Given the description of an element on the screen output the (x, y) to click on. 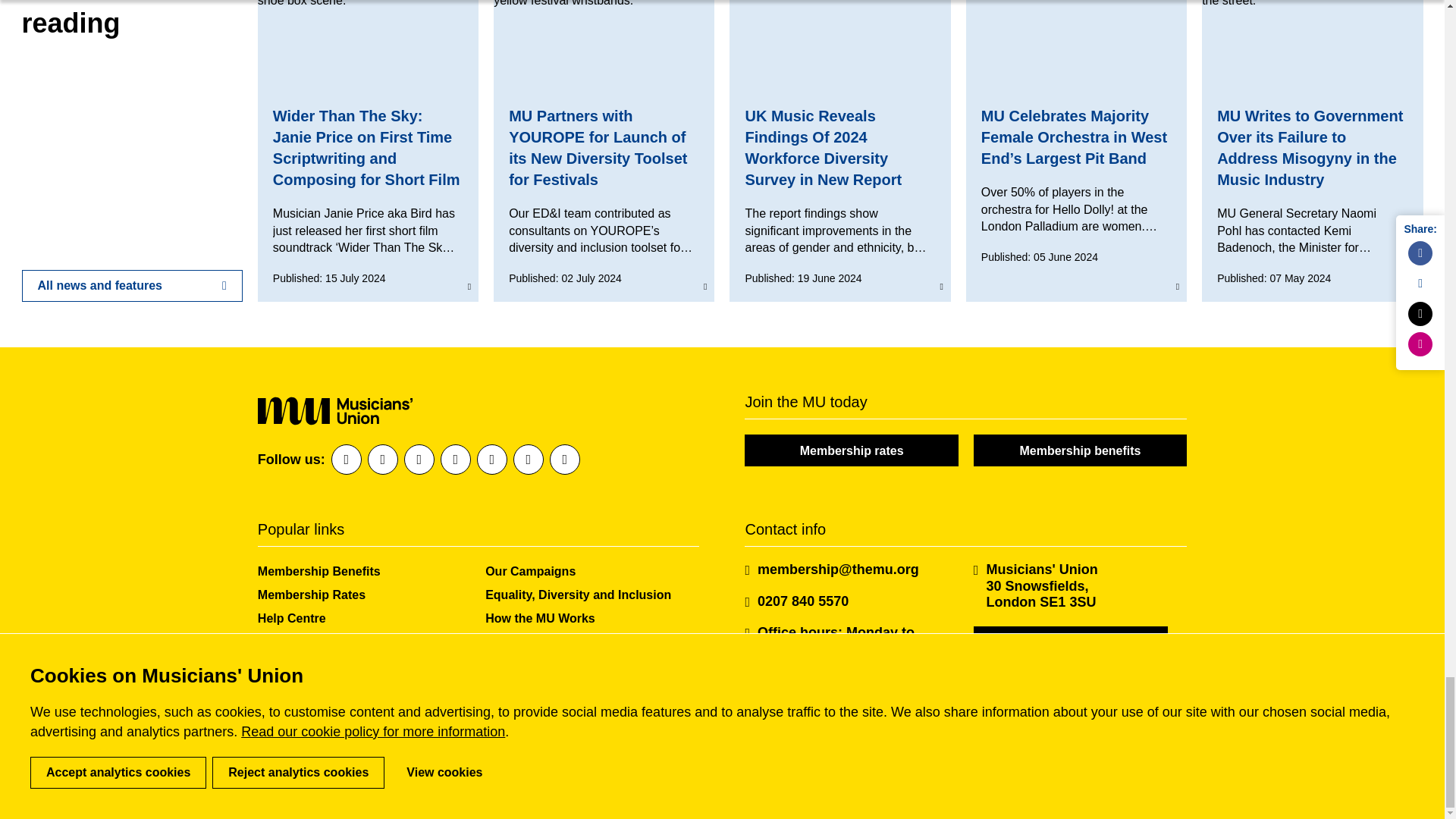
YouTube (528, 459)
Instagram (455, 459)
X (418, 459)
Spotify (491, 459)
TikTok (564, 459)
Facebook (346, 459)
LinkedIn (382, 459)
